Given the description of an element on the screen output the (x, y) to click on. 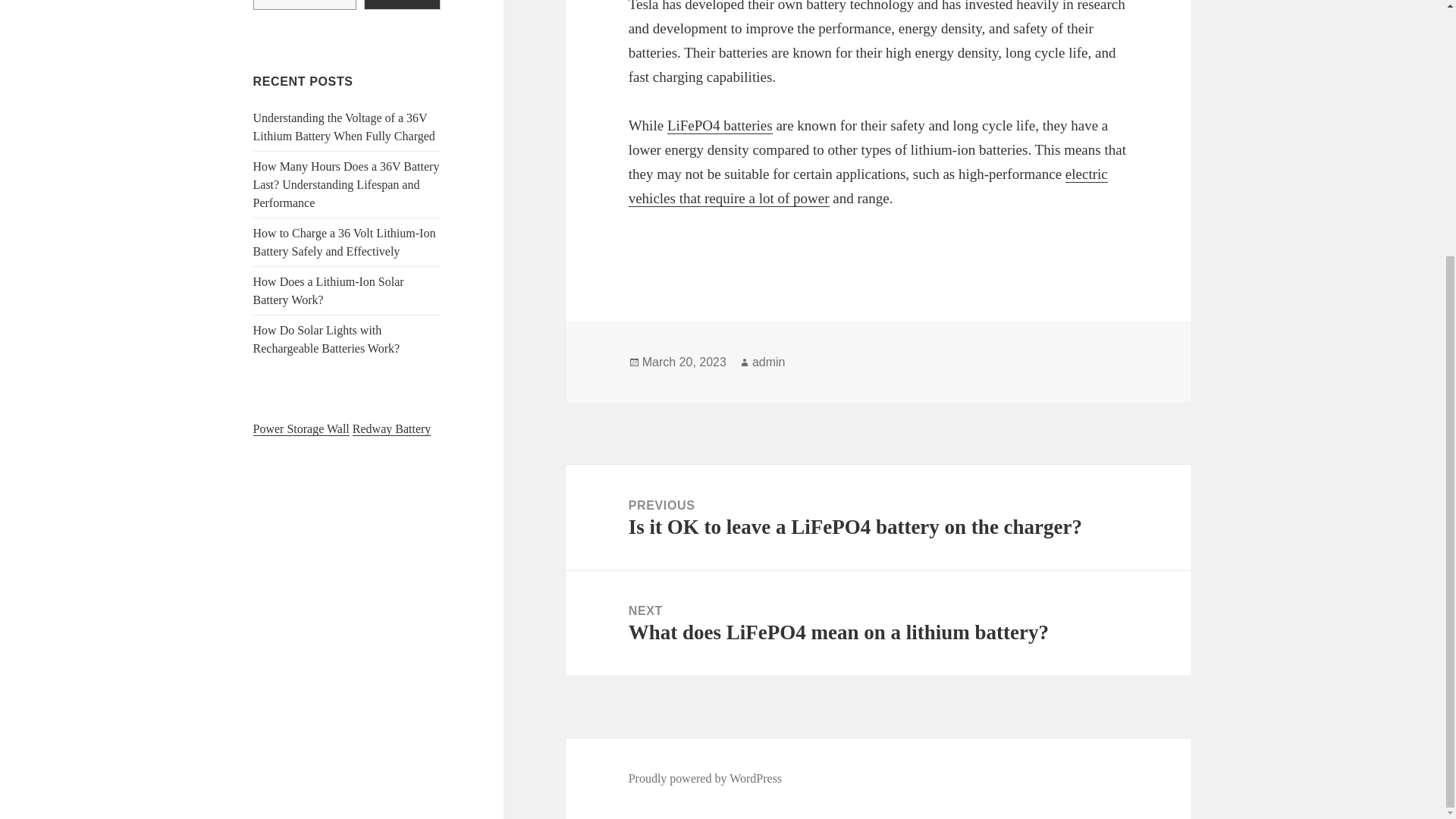
March 20, 2023 (684, 362)
admin (769, 362)
Power Storage Wall (301, 428)
Redway Battery (391, 428)
How Does a Lithium-Ion Solar Battery Work? (878, 623)
Proudly powered by WordPress (328, 290)
